Given the description of an element on the screen output the (x, y) to click on. 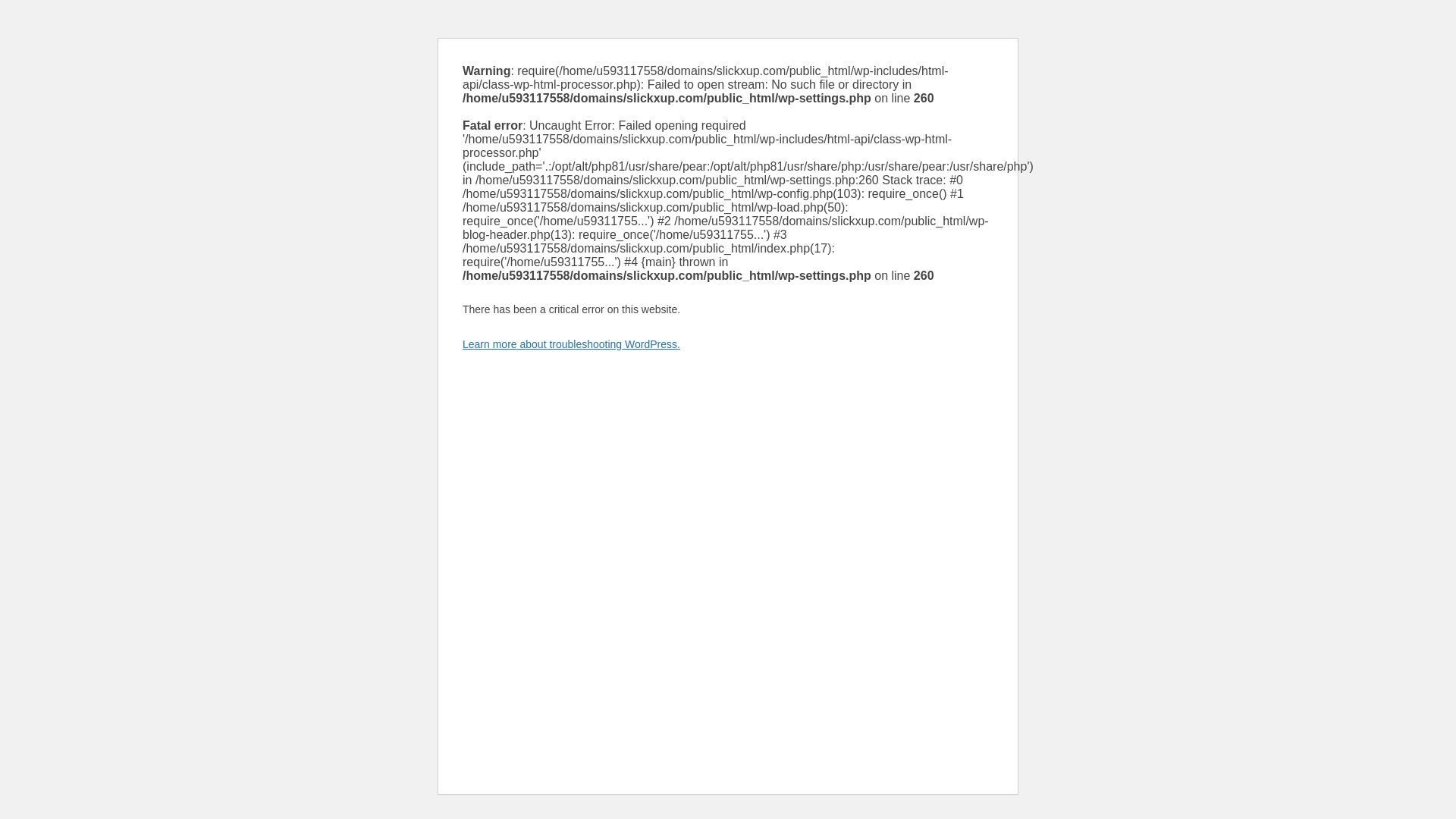
Learn more about troubleshooting WordPress. (571, 344)
